Given the description of an element on the screen output the (x, y) to click on. 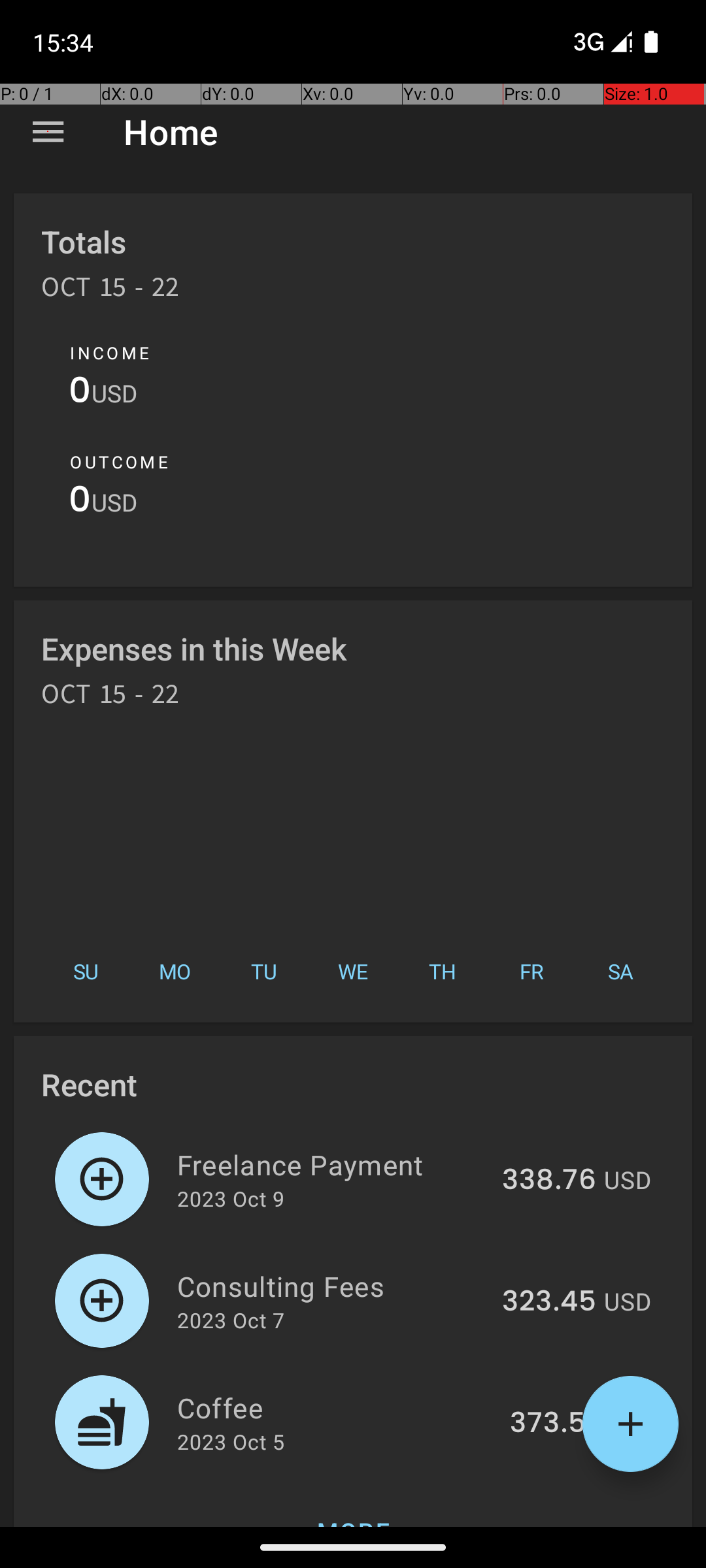
MORE Element type: android.widget.Button (352, 1504)
338.76 Element type: android.widget.TextView (548, 1180)
Consulting Fees Element type: android.widget.TextView (331, 1285)
2023 Oct 7 Element type: android.widget.TextView (230, 1320)
323.45 Element type: android.widget.TextView (548, 1301)
Coffee Element type: android.widget.TextView (335, 1407)
2023 Oct 5 Element type: android.widget.TextView (230, 1441)
373.51 Element type: android.widget.TextView (552, 1423)
